Given the description of an element on the screen output the (x, y) to click on. 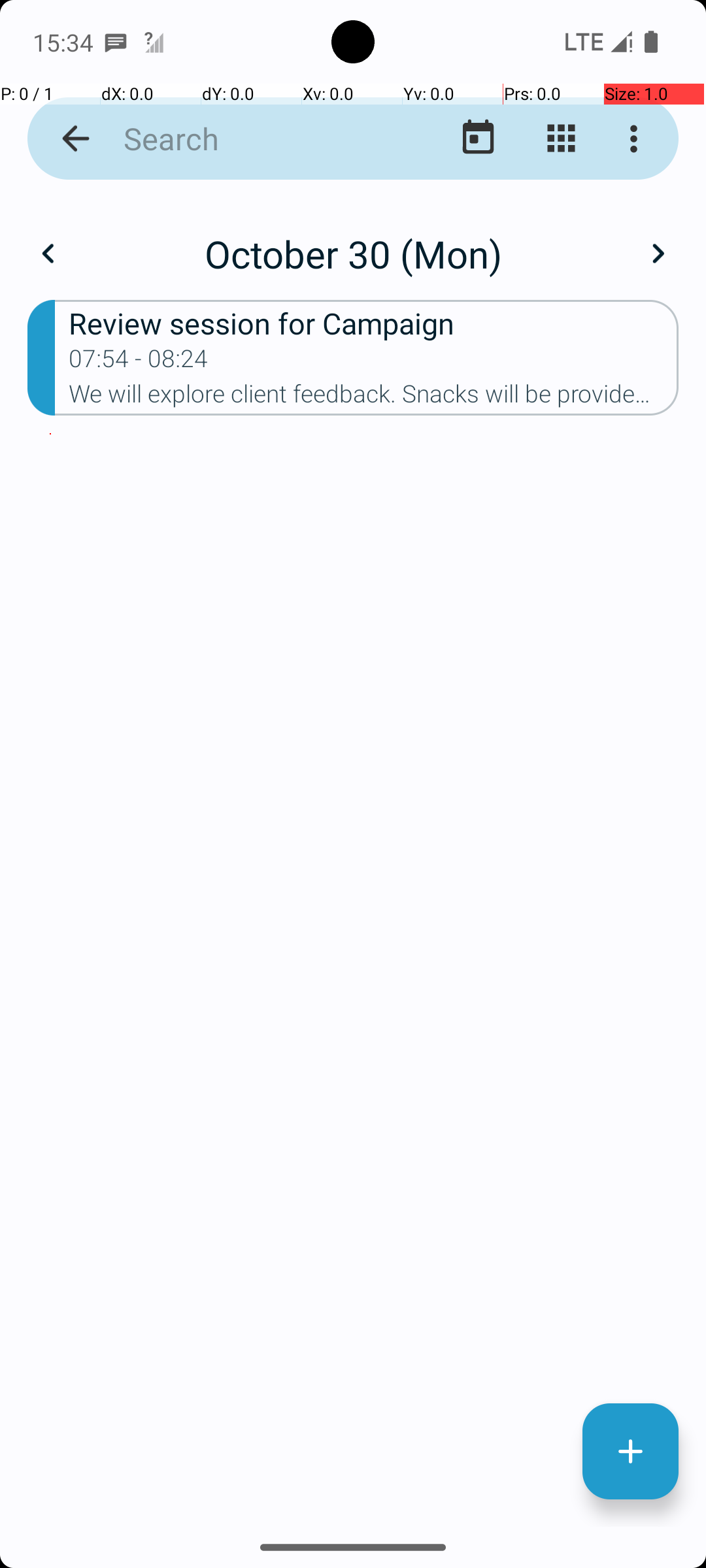
October 30 (Mon) Element type: android.widget.TextView (352, 253)
07:54 - 08:24 Element type: android.widget.TextView (137, 362)
We will explore client feedback. Snacks will be provided. Element type: android.widget.TextView (373, 397)
